Given the description of an element on the screen output the (x, y) to click on. 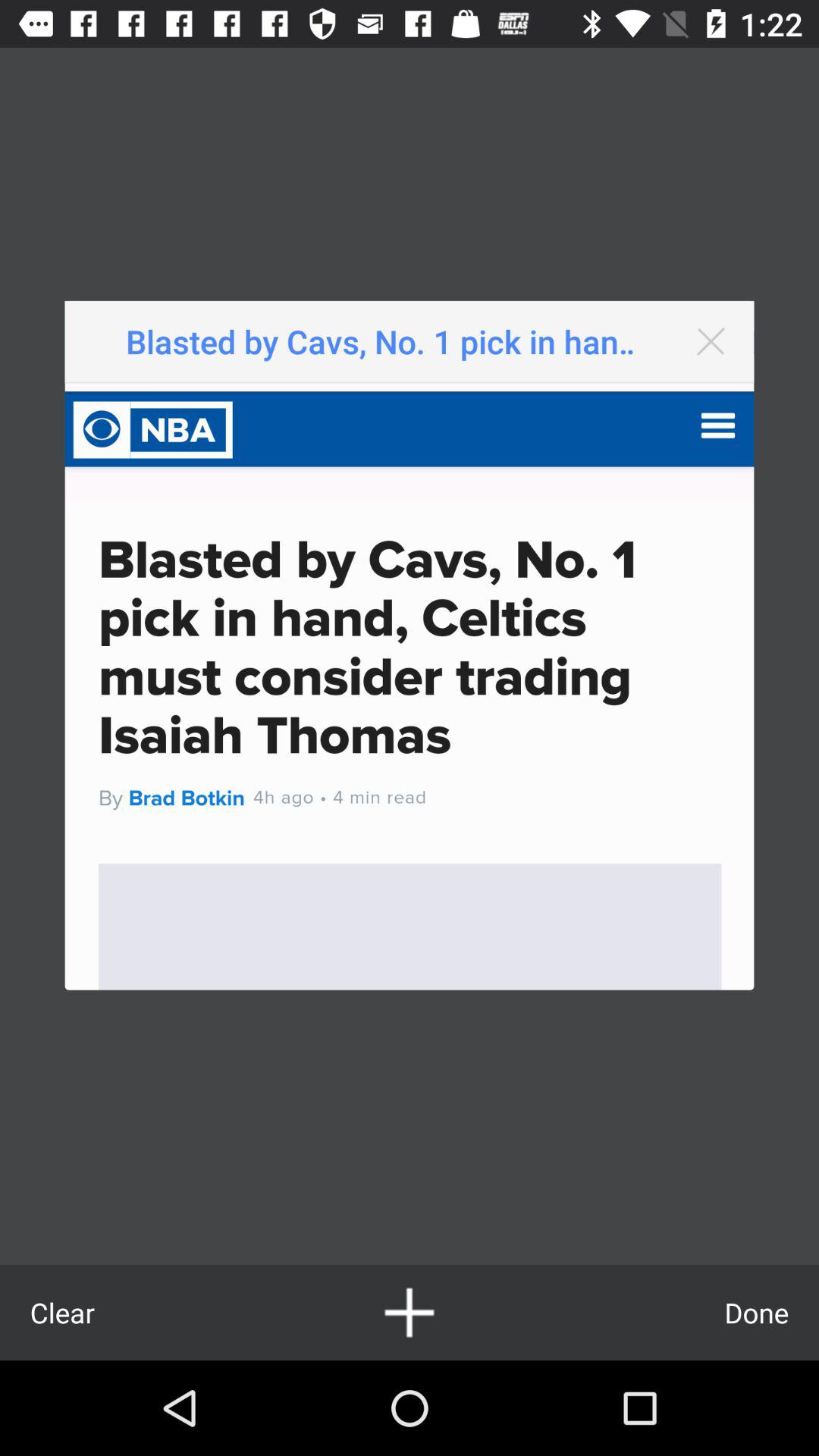
select done item (756, 1312)
